Given the description of an element on the screen output the (x, y) to click on. 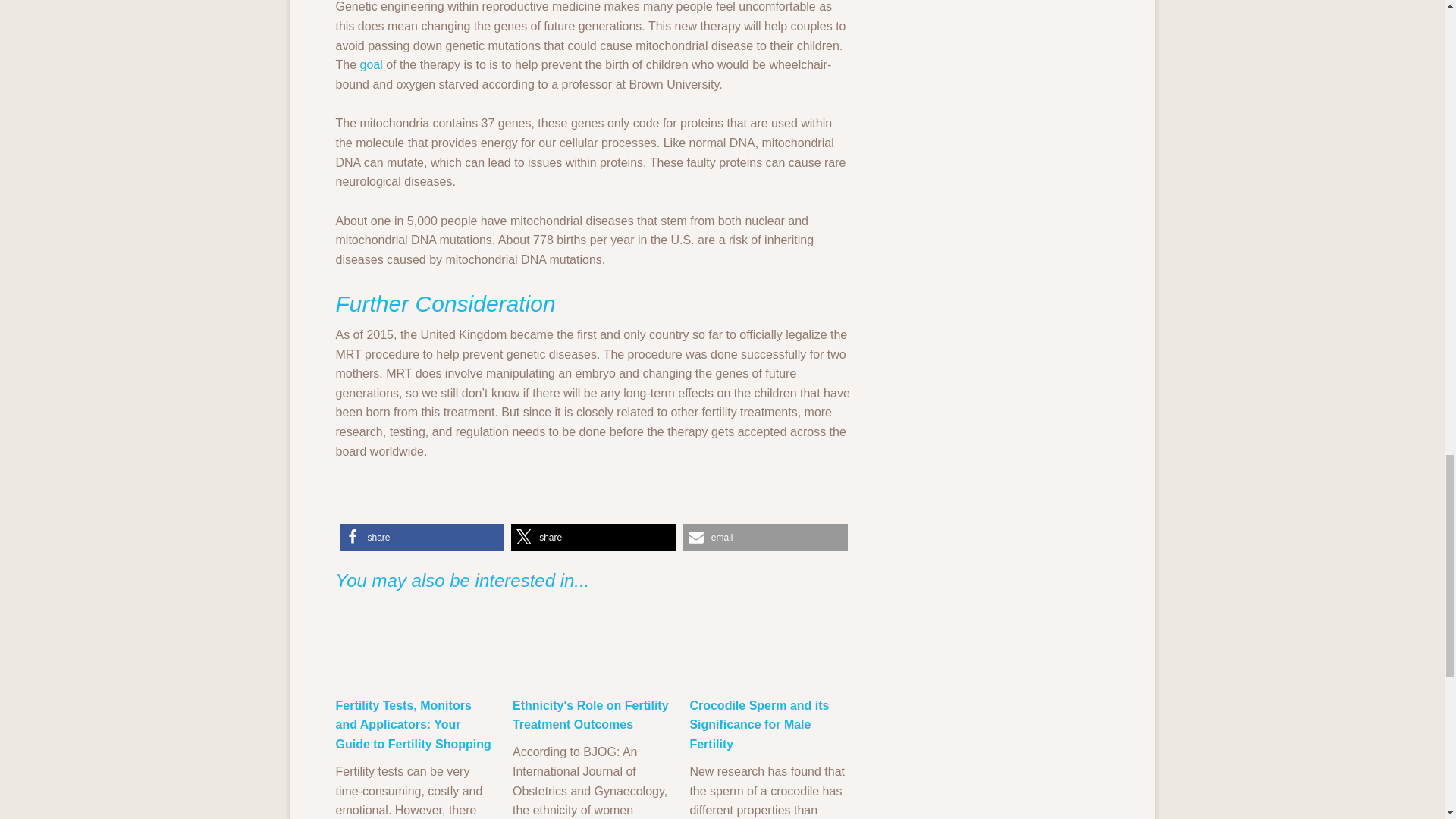
goal (373, 64)
share  (421, 537)
Share on X (593, 537)
Share on Facebook (421, 537)
email  (764, 537)
Send by email (764, 537)
share  (593, 537)
